Given the description of an element on the screen output the (x, y) to click on. 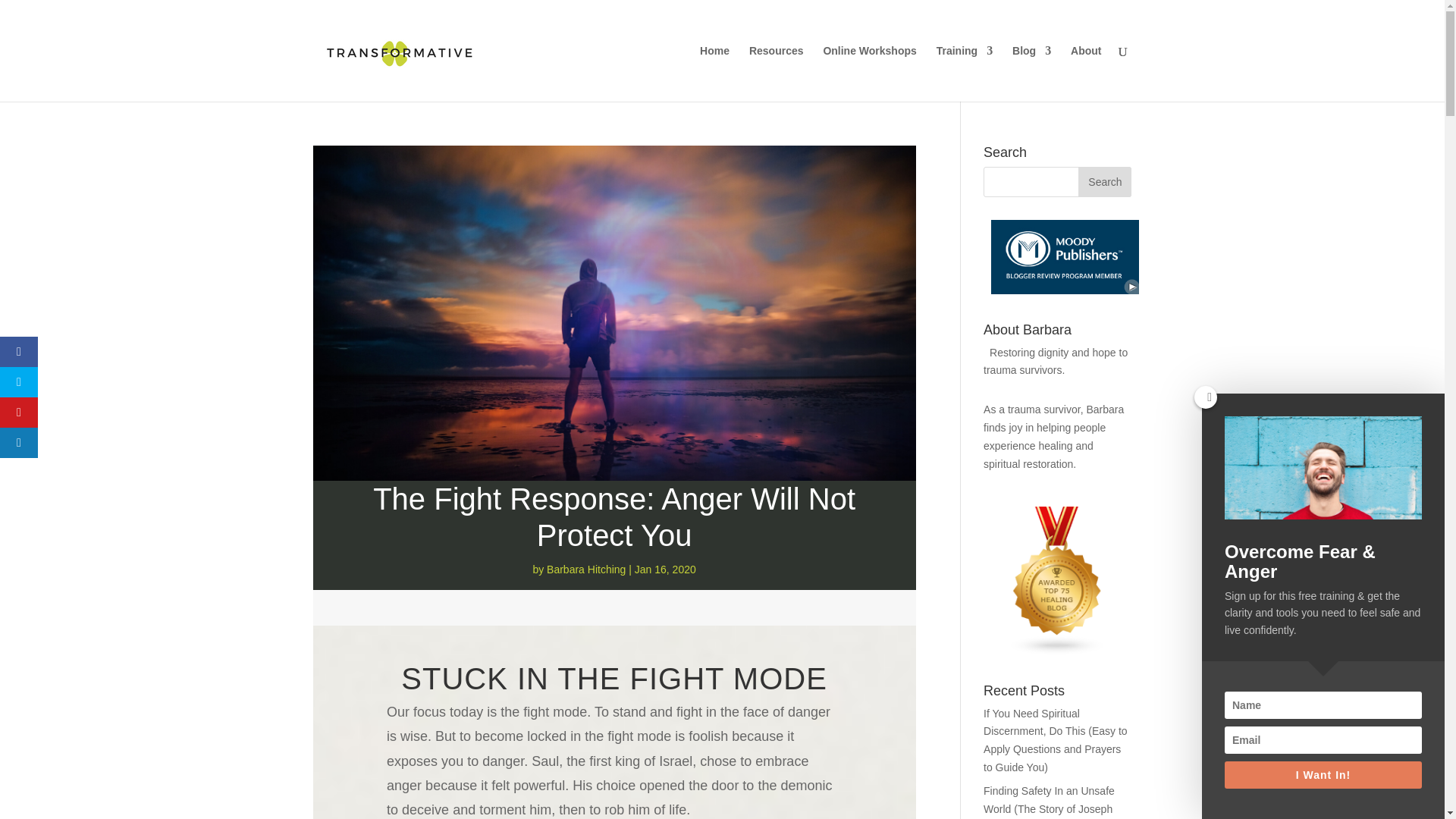
Search (1104, 182)
Resources (776, 73)
Online Workshops (868, 73)
Barbara Hitching (586, 569)
Training (964, 73)
Healing blogs (1057, 651)
Posts by Barbara Hitching (586, 569)
